Given the description of an element on the screen output the (x, y) to click on. 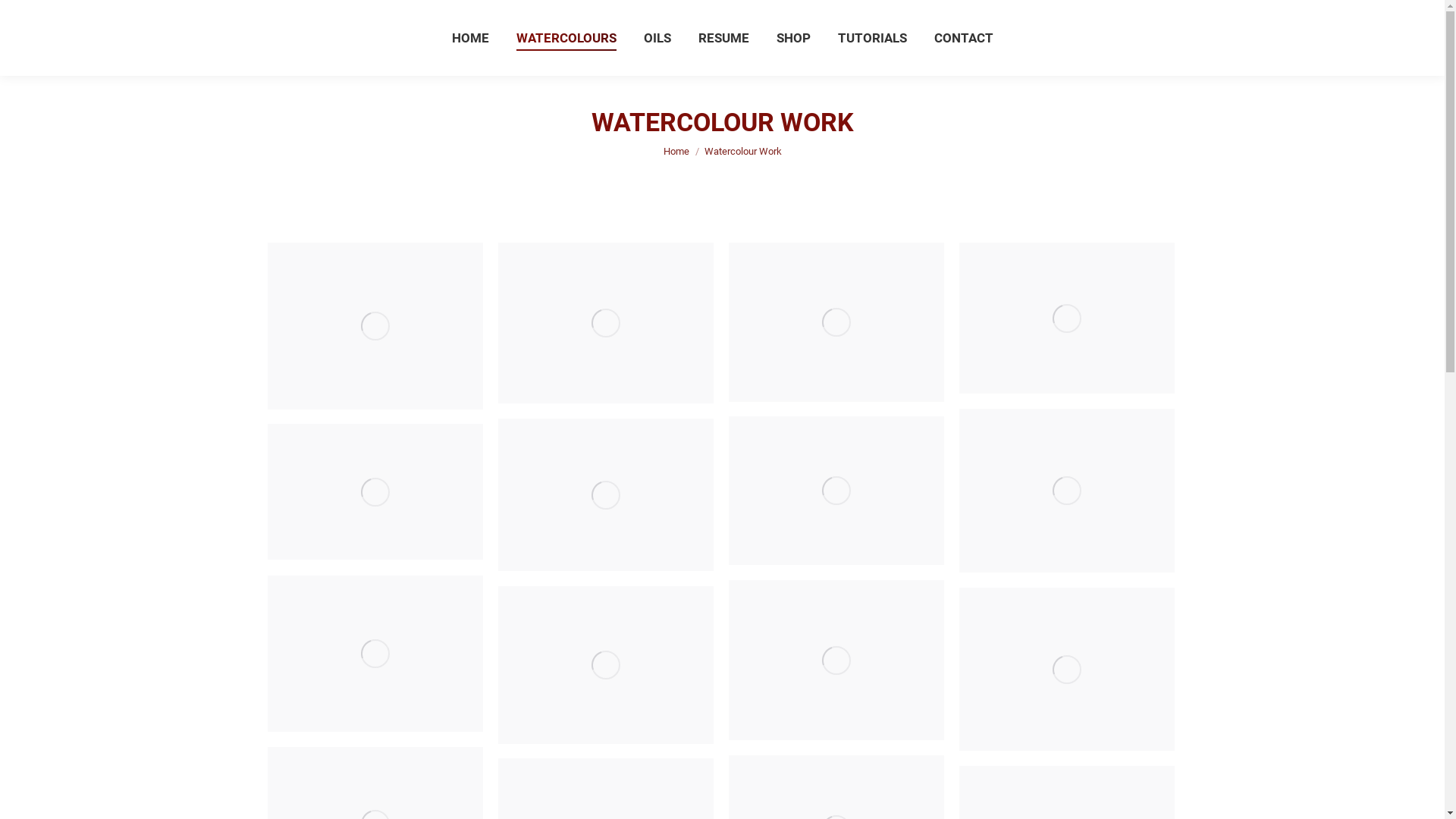
Big Sky Tuscany (35x25cm) wc Element type: hover (374, 653)
OILS Element type: text (656, 37)
Main Street Dookie (38x28cm) wc Element type: hover (604, 664)
Country Farm Portland (41x30cm) wc Element type: hover (374, 325)
RESUME Element type: text (722, 37)
SHOP Element type: text (793, 37)
CONTACT Element type: text (963, 37)
TUTORIALS Element type: text (871, 37)
Home Element type: text (675, 150)
Big Sky Inverell (28x18cm) wc Element type: hover (835, 490)
View from Studio (51x36cm) wc Element type: hover (604, 494)
HOME Element type: text (470, 37)
WATERCOLOURS Element type: text (565, 37)
Greys on the Darling (41x30cm) wc Element type: hover (1065, 490)
Frosty Light Capertee (50x35cm) wc Element type: hover (1065, 317)
Foggy Morn Tilpa (51x36cm) wc Element type: hover (374, 491)
Country Farm,Victoria (41x30cm) wc Element type: hover (604, 322)
Dune Study Hawsnest (41x30cm) wc Element type: hover (835, 321)
Lucignano (31x23cm) wc Element type: hover (835, 660)
